Given the description of an element on the screen output the (x, y) to click on. 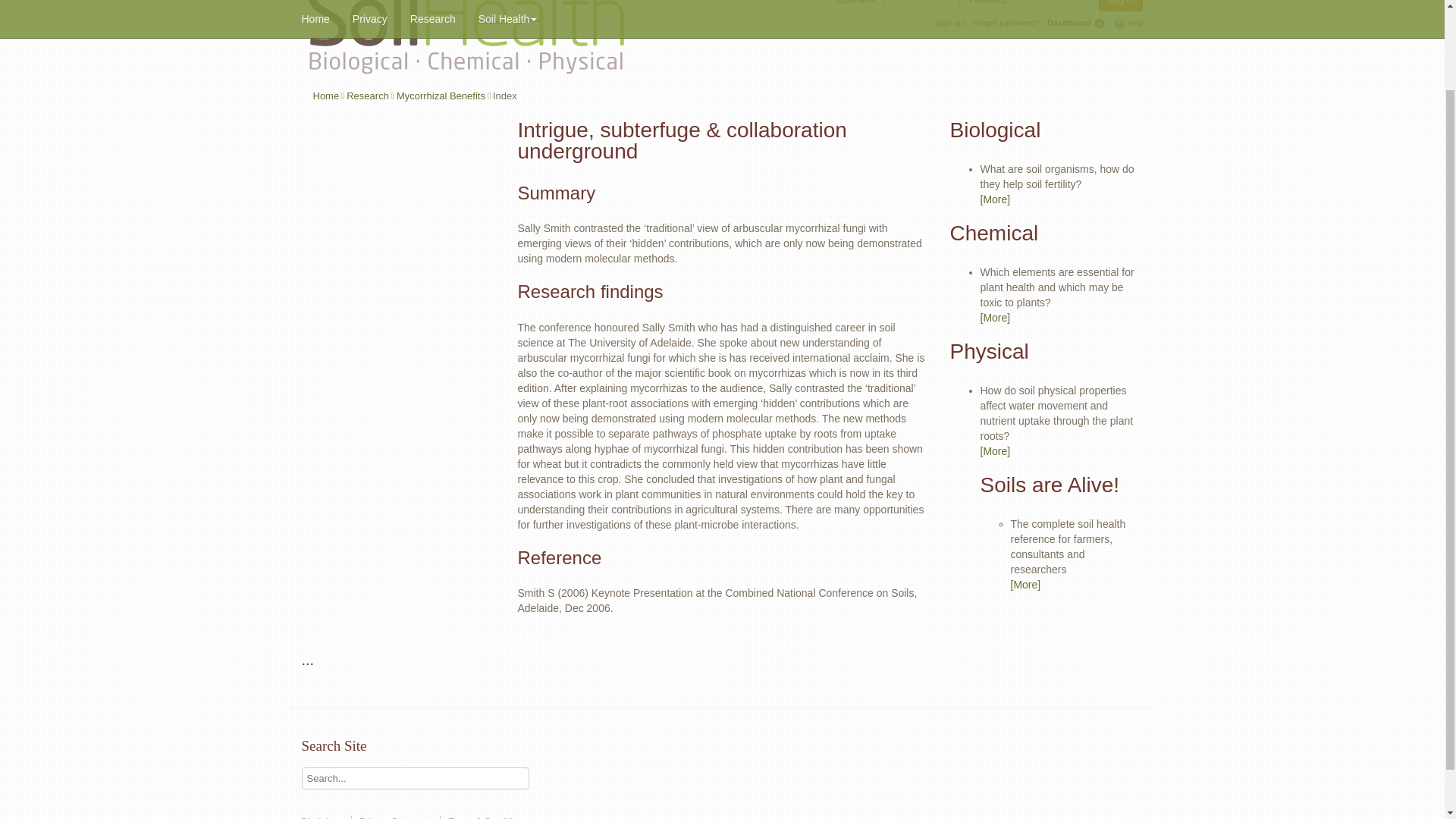
Dashboard (1069, 22)
Sign up! (949, 22)
Soil Health -  (467, 40)
Home (326, 95)
Log In (1120, 5)
Research (367, 95)
Forgot password? (1005, 22)
Soil Health -  (467, 19)
help (1127, 23)
Mycorrhizal Benefits (440, 95)
